Given the description of an element on the screen output the (x, y) to click on. 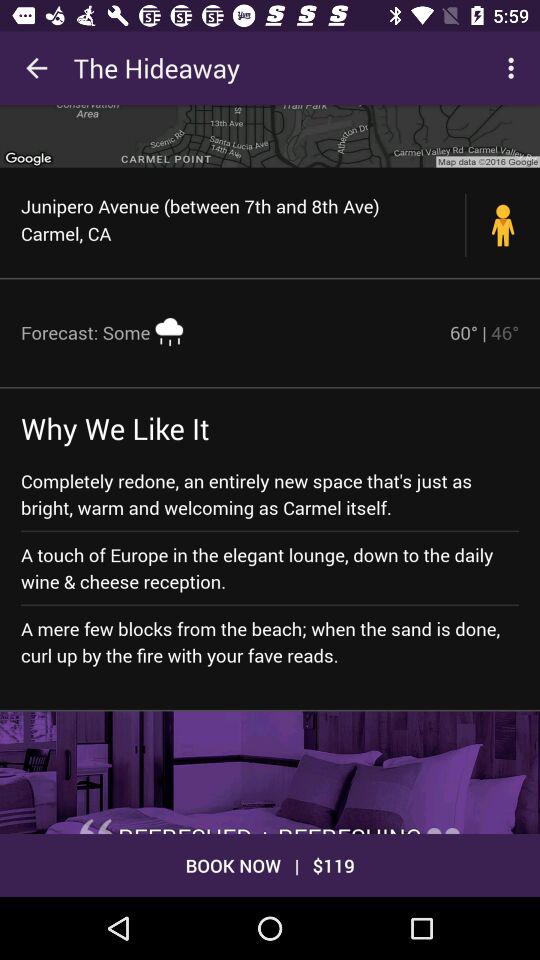
scroll to refreshed + refreshing  item (269, 827)
